Given the description of an element on the screen output the (x, y) to click on. 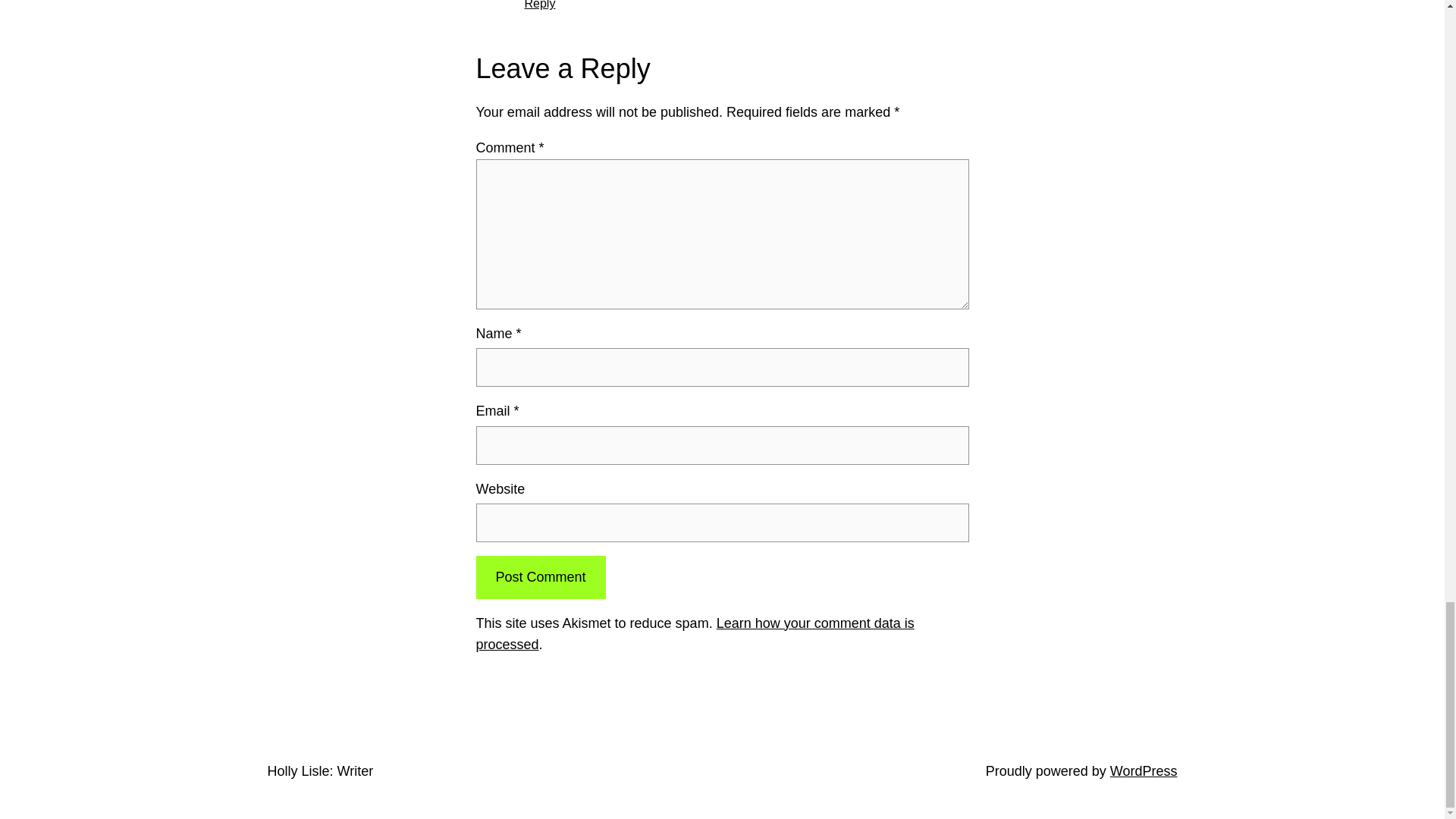
WordPress (1143, 770)
Learn how your comment data is processed (695, 633)
Post Comment (540, 577)
Reply (540, 4)
Post Comment (540, 577)
Holly Lisle: Writer (319, 770)
